Given the description of an element on the screen output the (x, y) to click on. 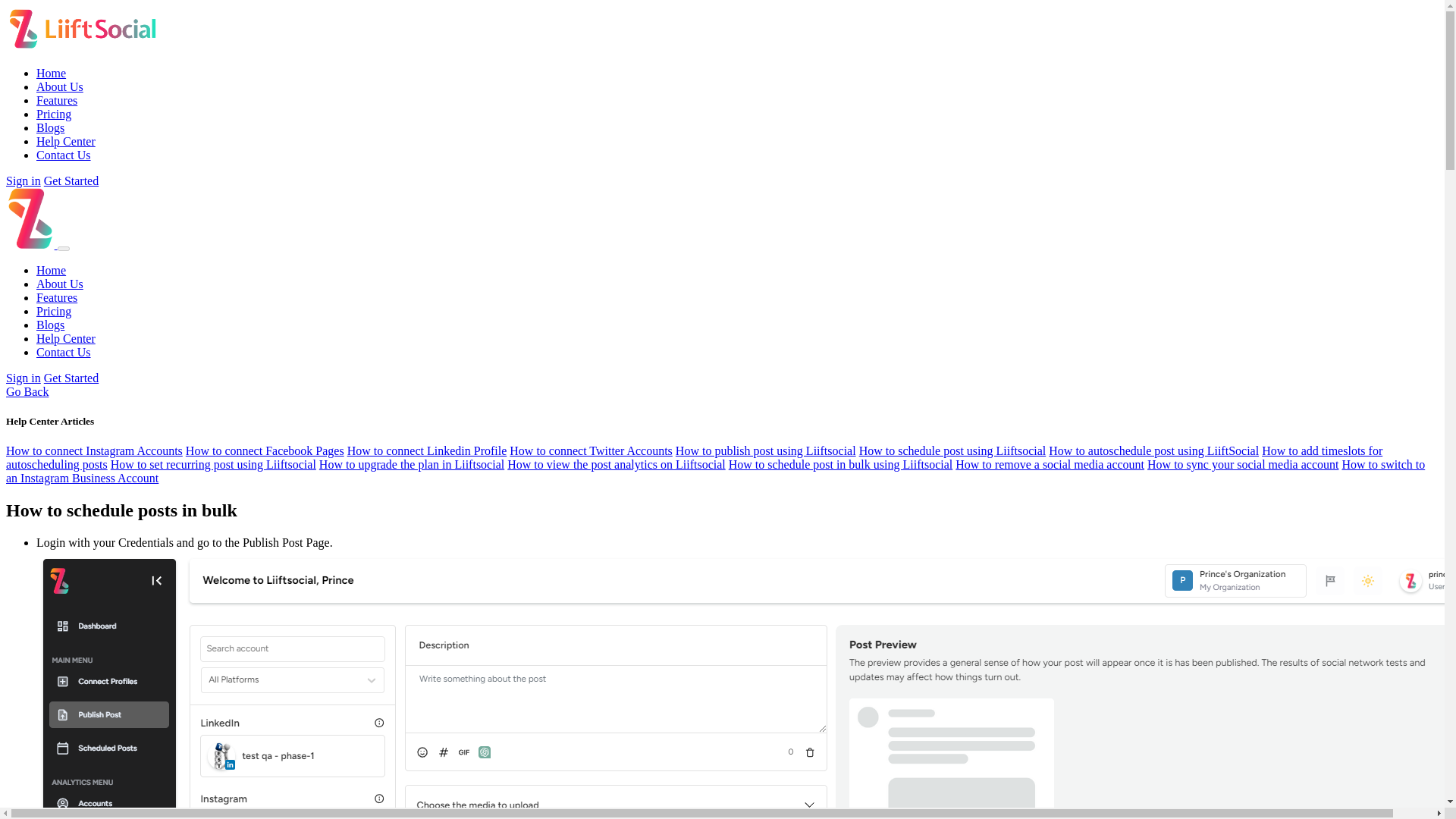
Sign in (22, 377)
Contact Us (63, 351)
How to add timeslots for autoscheduling posts (693, 457)
Features (56, 100)
How to connect Twitter Accounts (590, 450)
About Us (59, 283)
Get Started (71, 180)
Features (56, 297)
How to remove a social media account (1049, 463)
Help Center (66, 141)
How to schedule post using Liiftsocial (952, 450)
Blogs (50, 127)
How to connect Instagram Accounts (94, 450)
How to schedule post in bulk using Liiftsocial (841, 463)
How to publish post using Liiftsocial (765, 450)
